Given the description of an element on the screen output the (x, y) to click on. 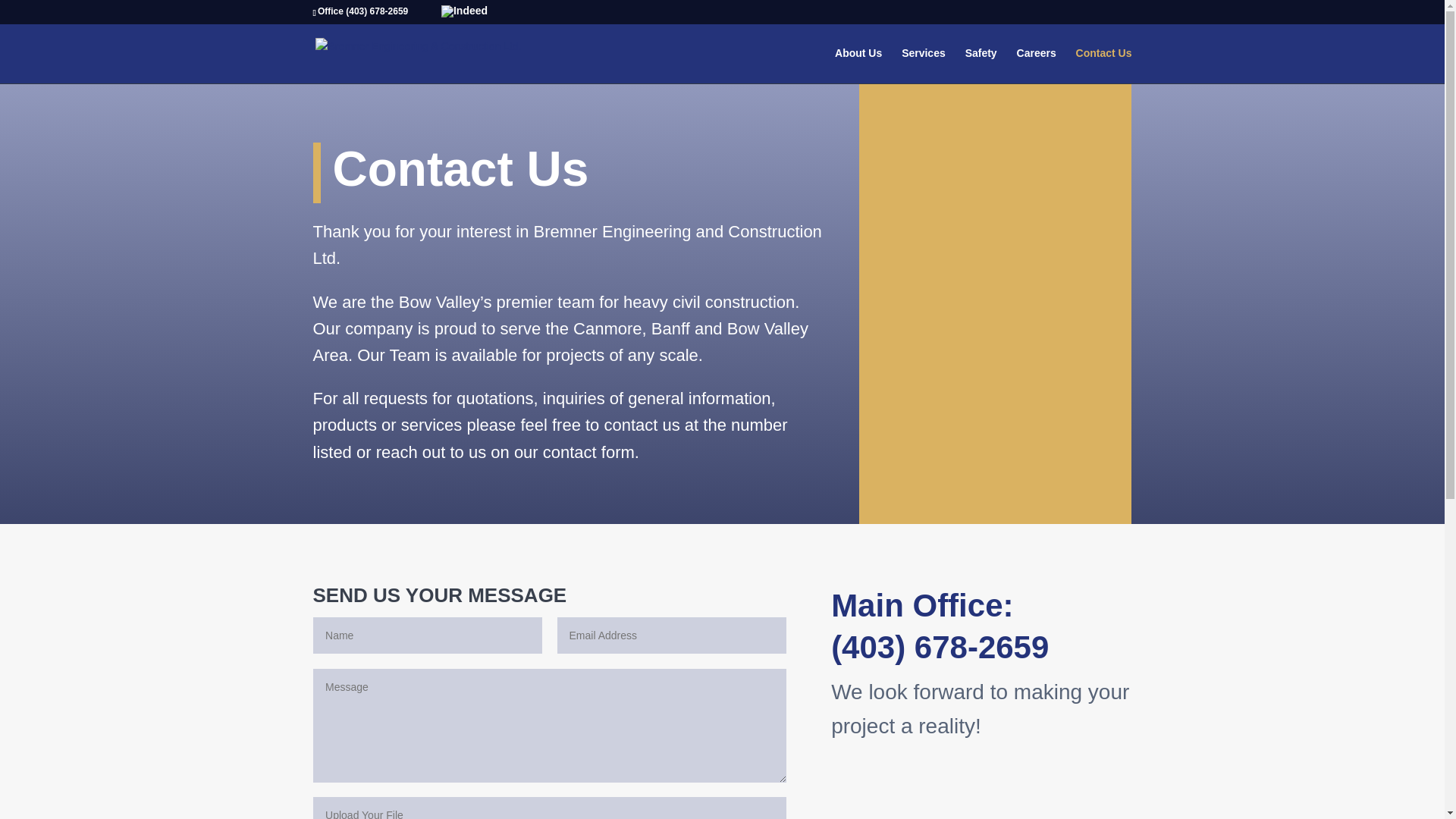
About Us Element type: text (857, 65)
Services Element type: text (923, 65)
Contact Us Element type: text (1104, 65)
Careers Element type: text (1036, 65)
Safety Element type: text (981, 65)
